Given the description of an element on the screen output the (x, y) to click on. 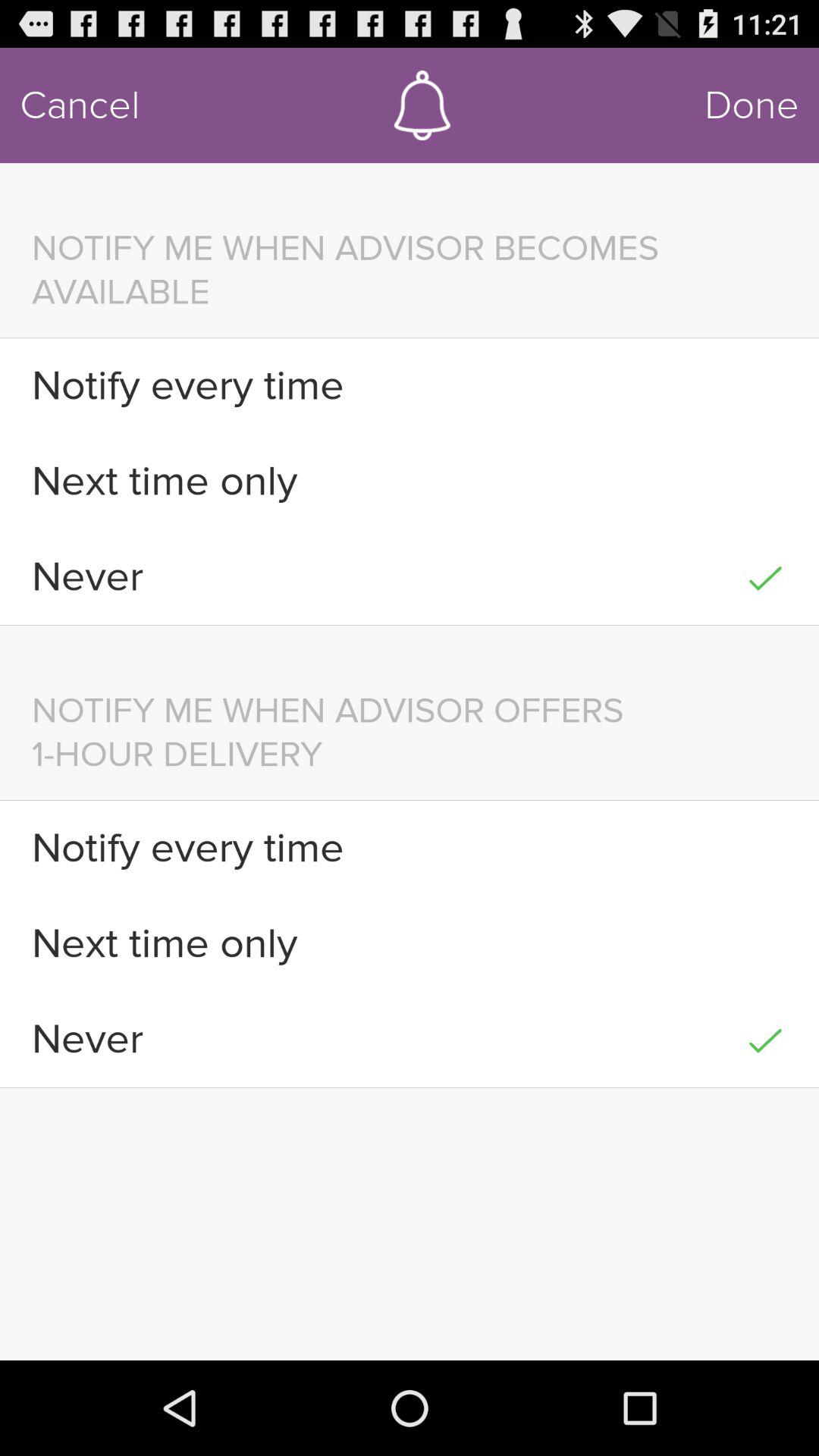
choose item to the right of never (765, 576)
